Given the description of an element on the screen output the (x, y) to click on. 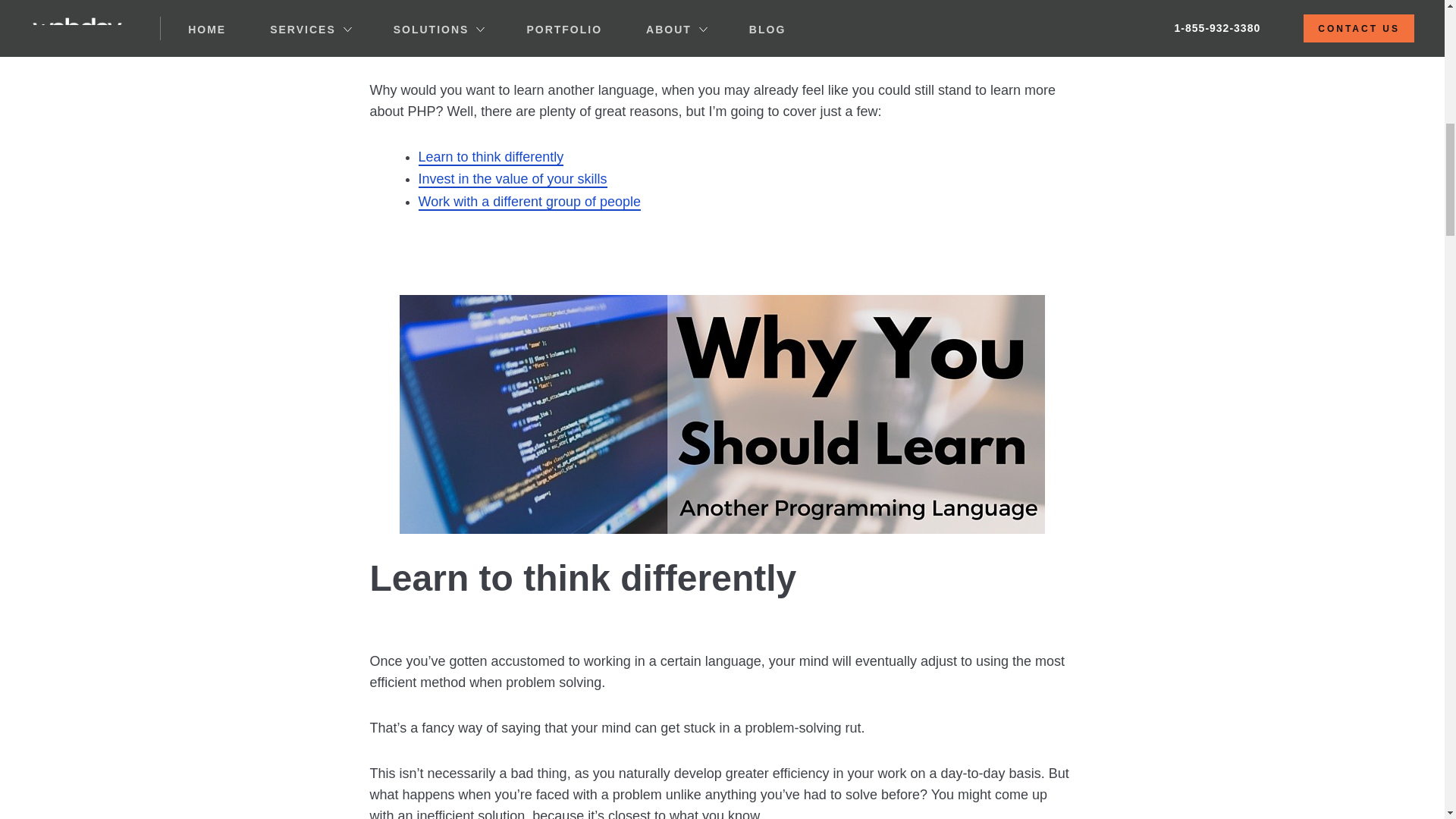
Work with a different group of people (530, 202)
Invest in the value of your skills (513, 179)
Learn to think differently (491, 157)
